Given the description of an element on the screen output the (x, y) to click on. 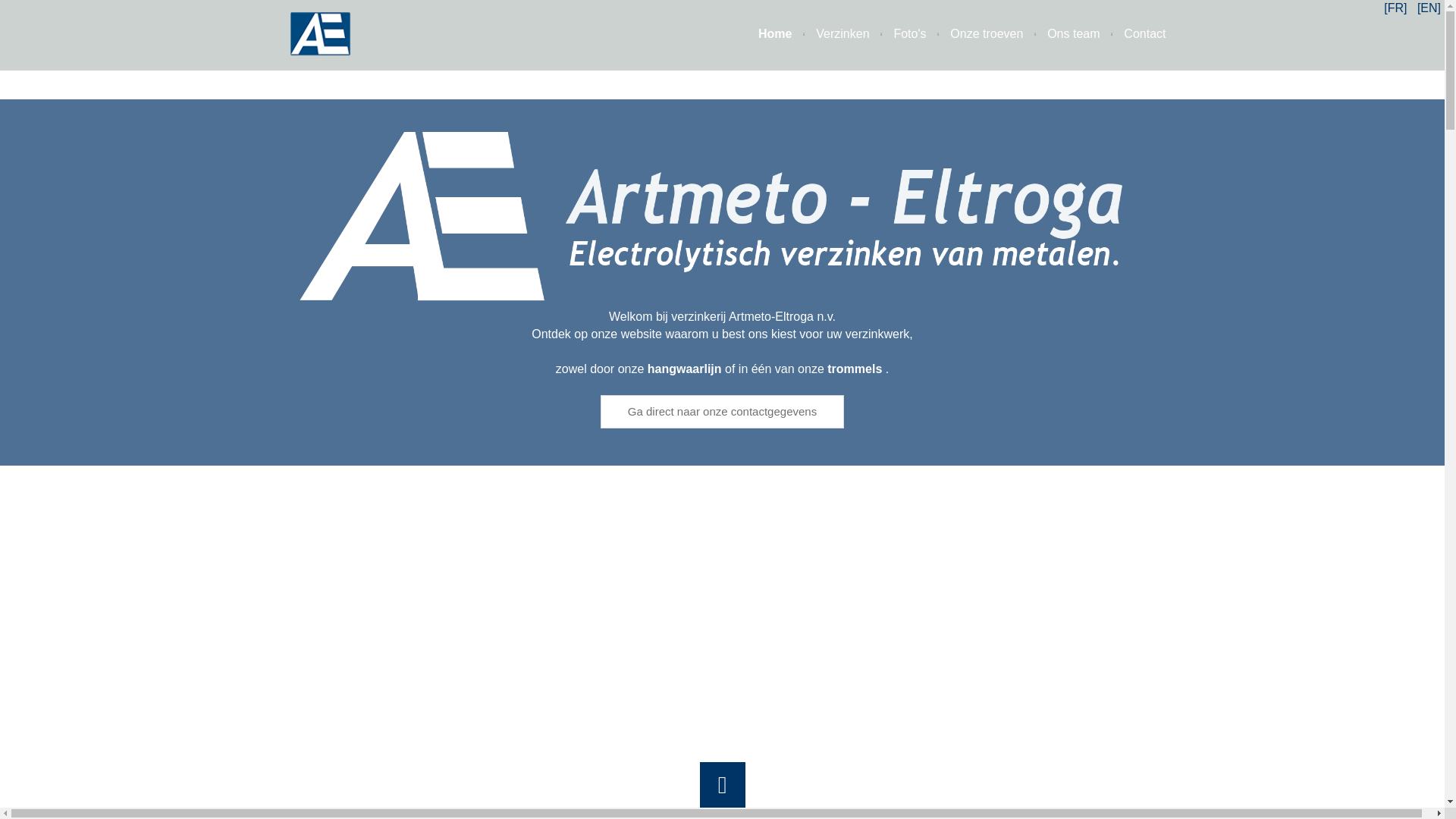
[EN] Element type: text (1428, 7)
Ons team Element type: text (1060, 34)
Onze troeven Element type: text (973, 34)
Artmeto-Eltroga n.v. Element type: hover (721, 218)
Verzinken Element type: text (830, 34)
Home Element type: text (763, 34)
Ga direct naar onze contactgegevens Element type: text (722, 411)
Foto's Element type: text (897, 34)
Contact Element type: text (1133, 34)
[FR] Element type: text (1396, 7)
